Given the description of an element on the screen output the (x, y) to click on. 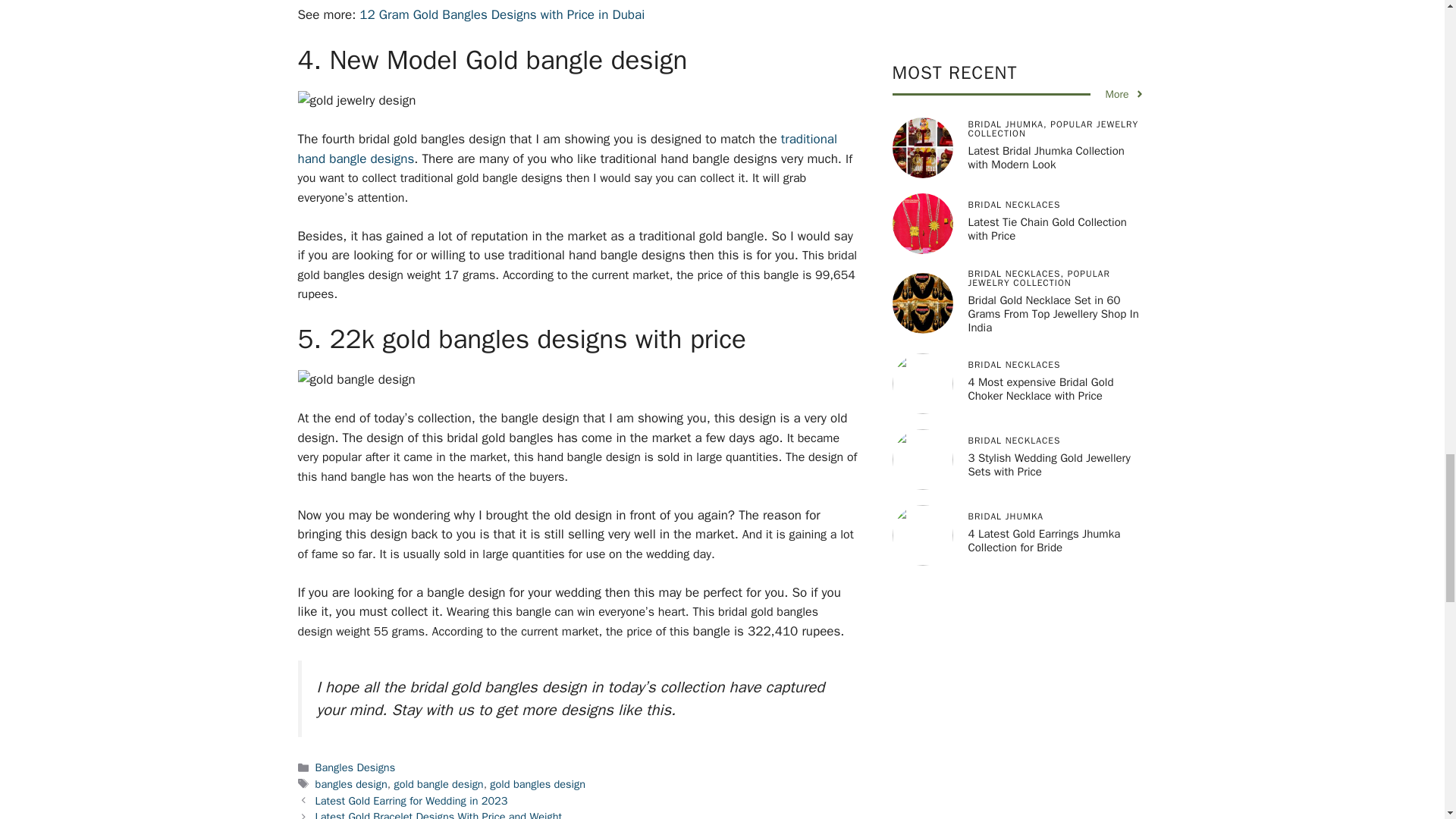
gold bangle design (438, 784)
12 Gram Gold Bangles Designs with Price in Dubai (502, 14)
bangles design (351, 784)
traditional hand bangle designs (567, 149)
Latest Gold Bracelet Designs With Price and Weight (438, 814)
Bangles Designs (355, 766)
Latest Gold Earring for Wedding in 2023 (411, 800)
gold bangles design (537, 784)
